Given the description of an element on the screen output the (x, y) to click on. 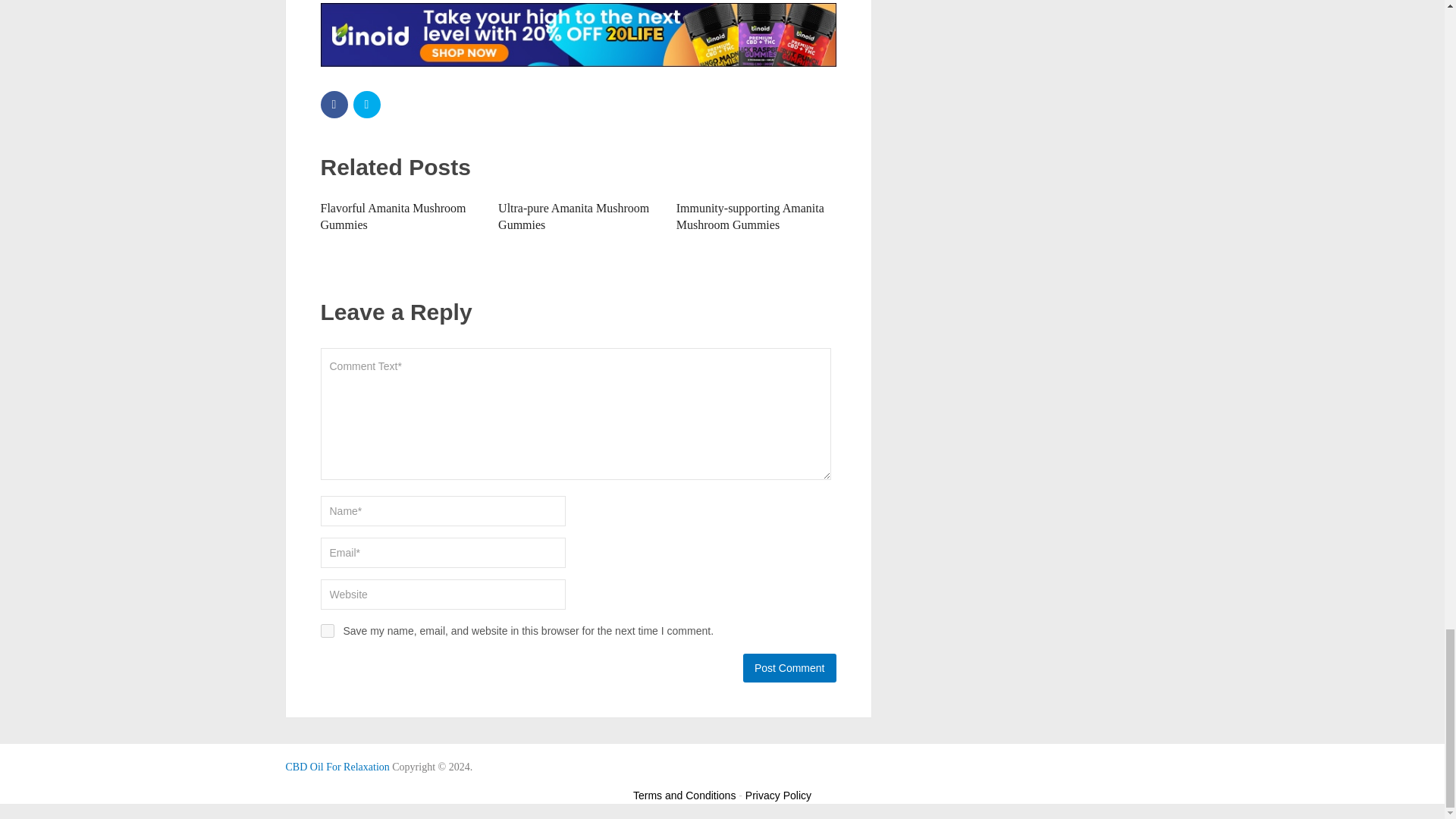
Flavorful Amanita Mushroom Gummies (392, 215)
Ultra-pure Amanita Mushroom Gummies (573, 215)
Immunity-supporting Amanita Mushroom Gummies (750, 215)
Ultra-pure Amanita Mushroom Gummies (573, 215)
Immunity-supporting Amanita Mushroom Gummies (750, 215)
Flavorful Amanita Mushroom Gummies (392, 215)
Post Comment (788, 667)
yes (326, 631)
Post Comment (788, 667)
